Given the description of an element on the screen output the (x, y) to click on. 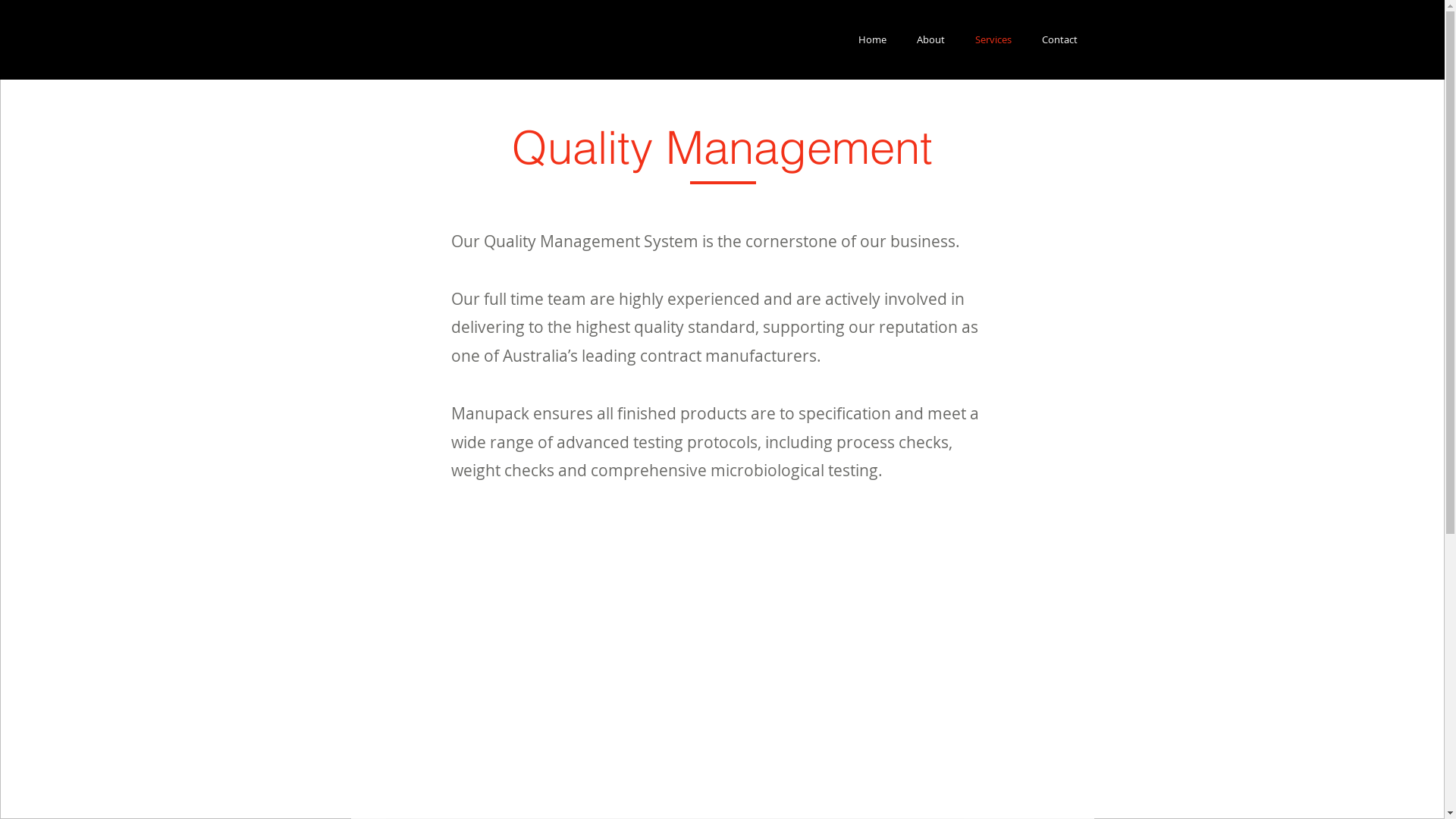
Contact Element type: text (1059, 39)
About Element type: text (930, 39)
Home Element type: text (872, 39)
Services Element type: text (993, 39)
